Given the description of an element on the screen output the (x, y) to click on. 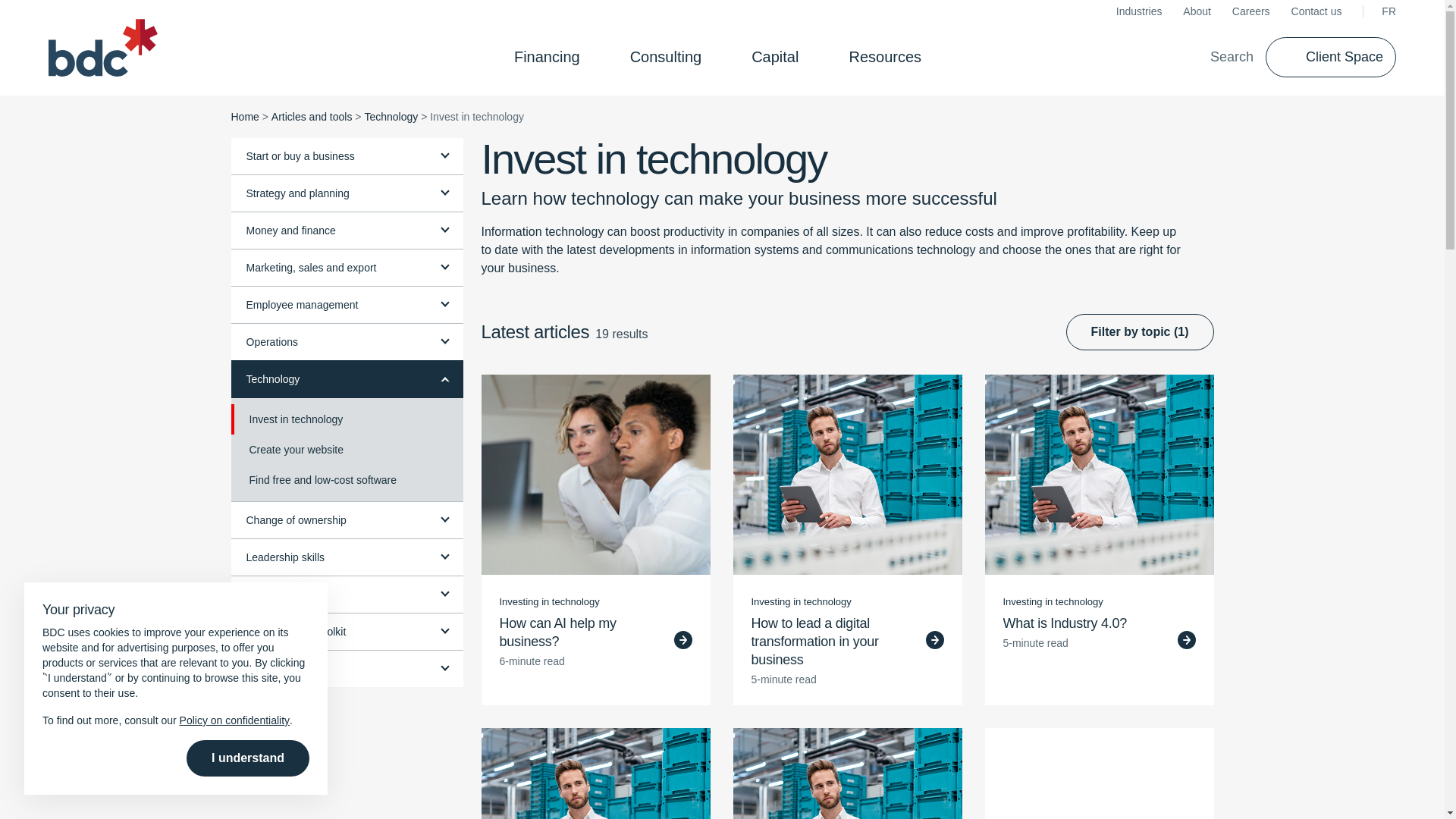
Client Space (1330, 56)
Why invest in new technology? (846, 474)
Search (1220, 56)
Consulting (670, 56)
Why invest in new technology? (595, 773)
Why invest in new technology? (846, 773)
Capital (779, 56)
Why invest in new technology? (1098, 474)
Financing (551, 56)
